Given the description of an element on the screen output the (x, y) to click on. 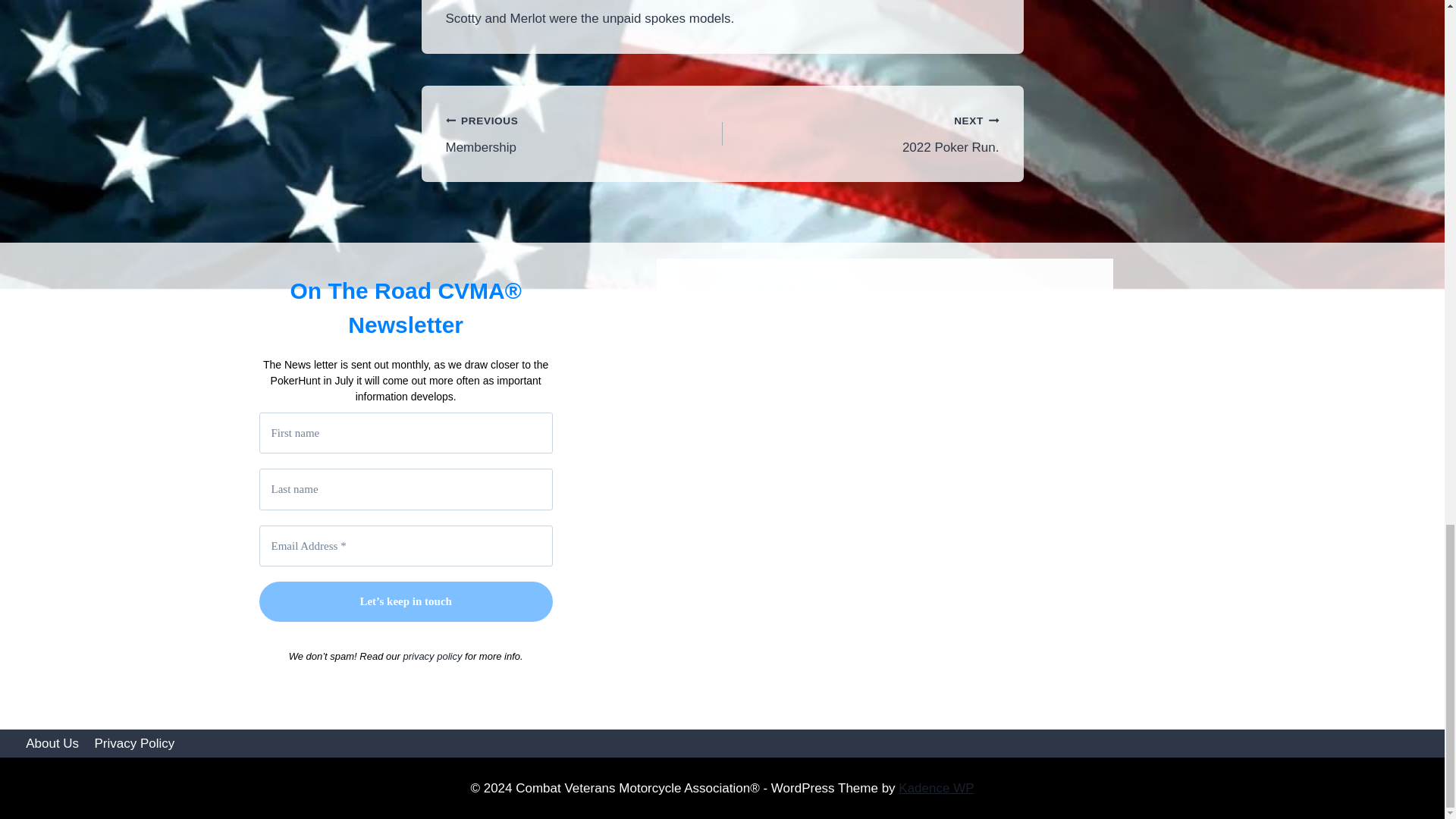
Last name (406, 489)
Privacy Policy (583, 133)
First name (133, 743)
Email Address (406, 433)
About Us (406, 546)
privacy policy (51, 743)
Kadence WP (860, 133)
